Given the description of an element on the screen output the (x, y) to click on. 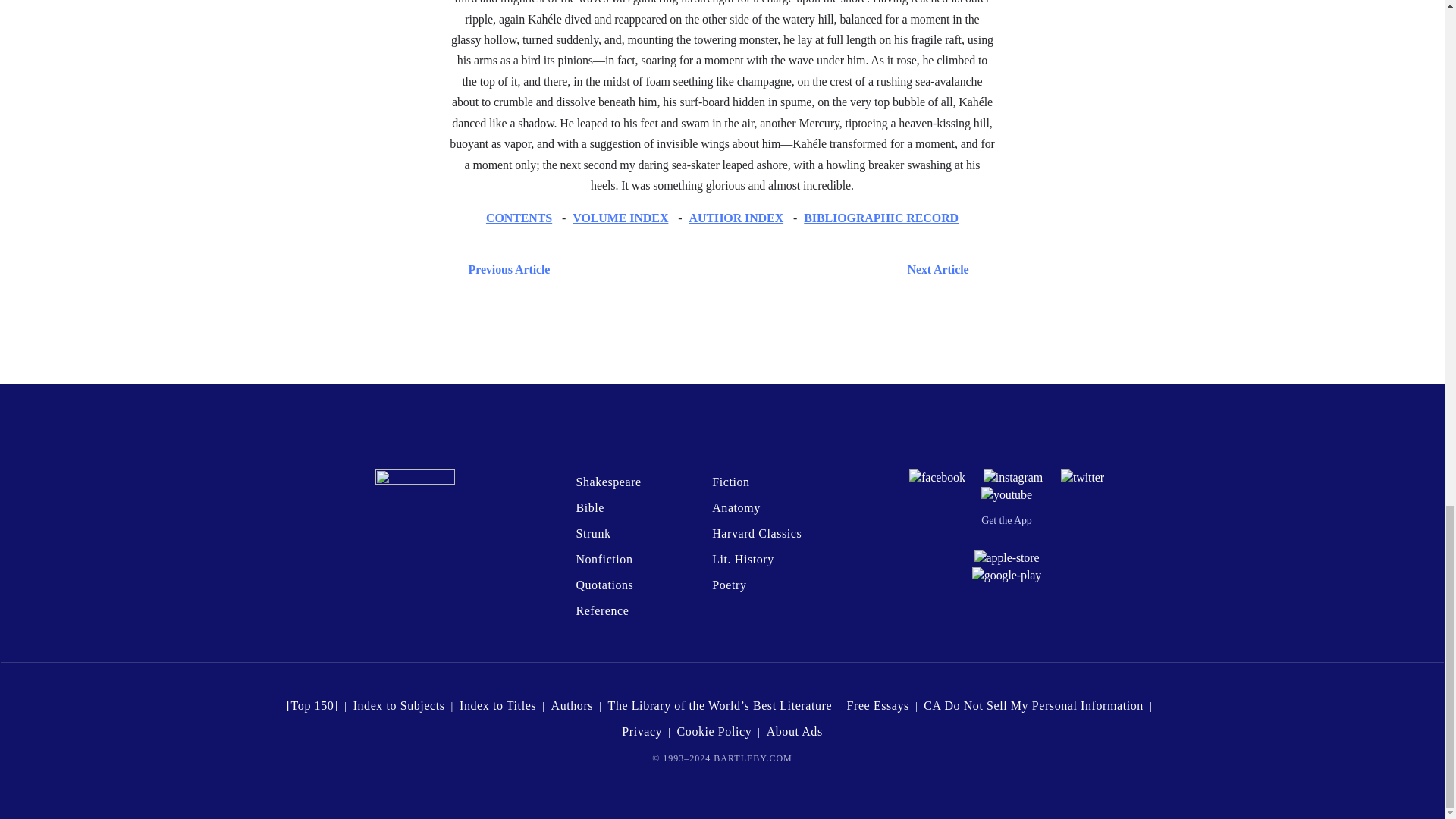
Lit. History (742, 558)
VOLUME INDEX (620, 217)
Quotations (604, 584)
Reference (601, 610)
Strunk (592, 533)
Previous Article (505, 269)
BIBLIOGRAPHIC RECORD (880, 217)
Shakespeare (607, 481)
Bible (589, 507)
Anatomy (735, 507)
